Given the description of an element on the screen output the (x, y) to click on. 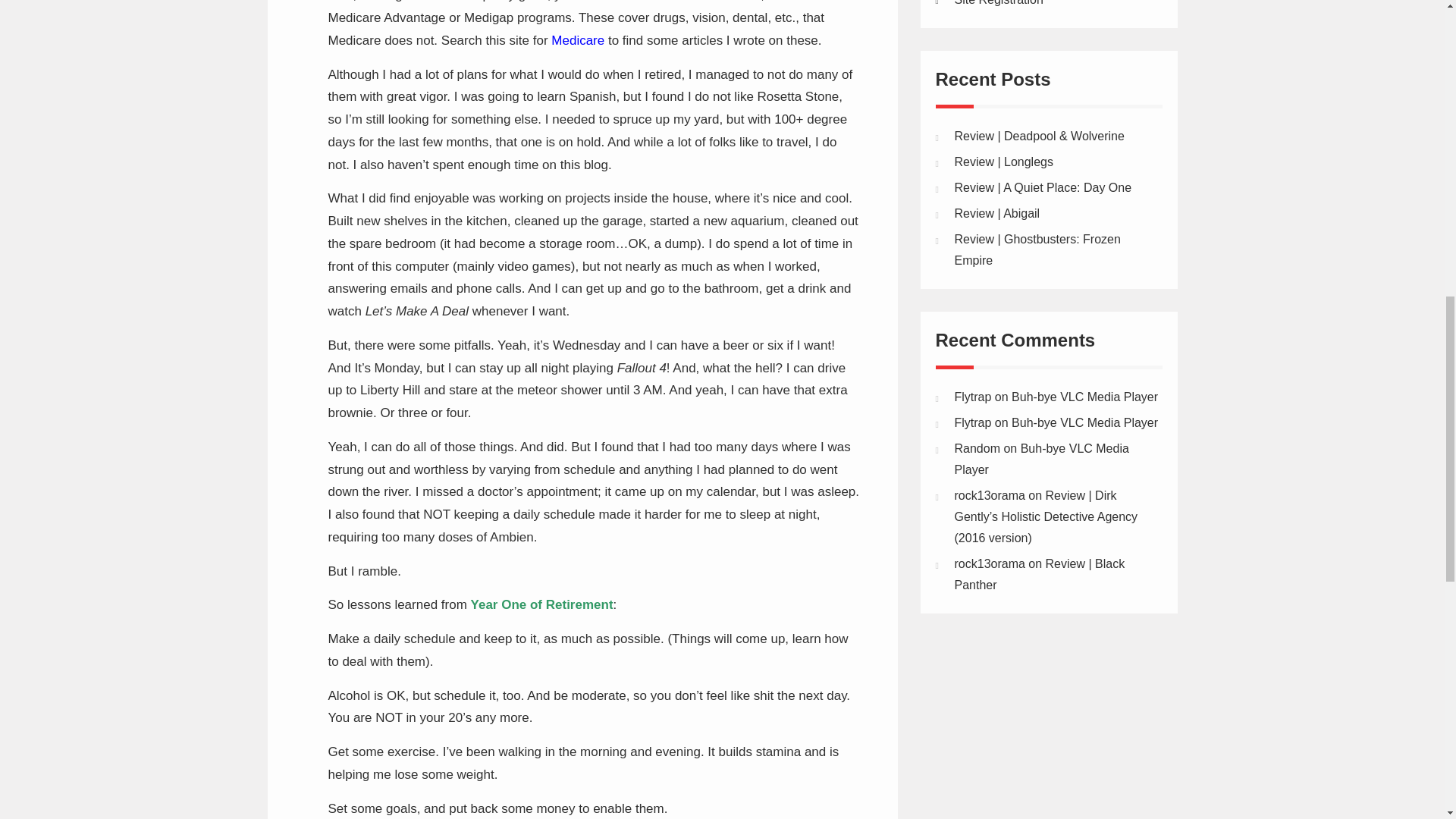
Click here to register on this site (997, 2)
